Given the description of an element on the screen output the (x, y) to click on. 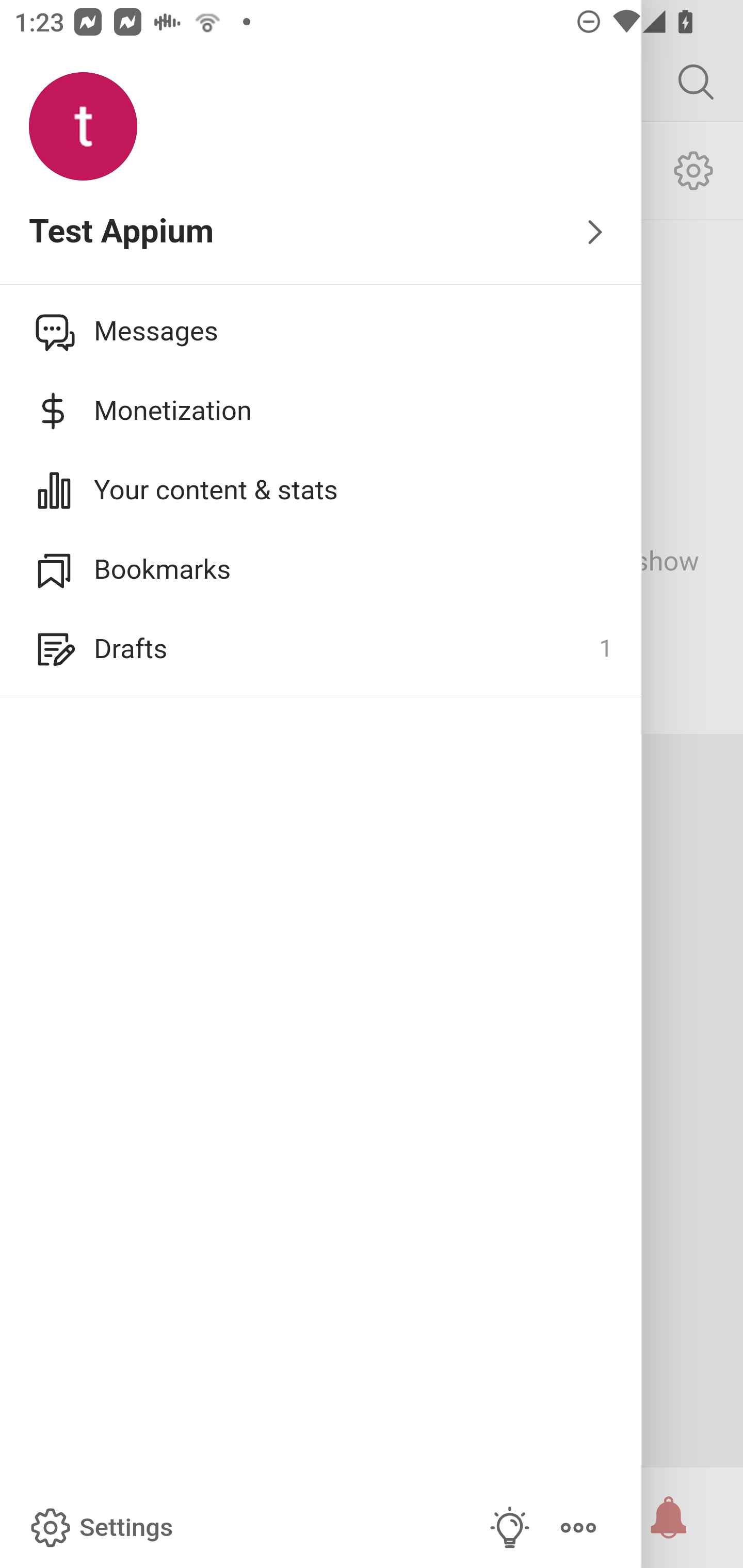
Profile photo for Test Appium (82, 126)
Test Appium (321, 232)
Messages (321, 330)
Monetization (321, 410)
Your content & stats (321, 489)
Bookmarks (321, 568)
Drafts 1 Drafts 1 (321, 648)
1 (605, 648)
Settings (99, 1527)
More (578, 1527)
